Given the description of an element on the screen output the (x, y) to click on. 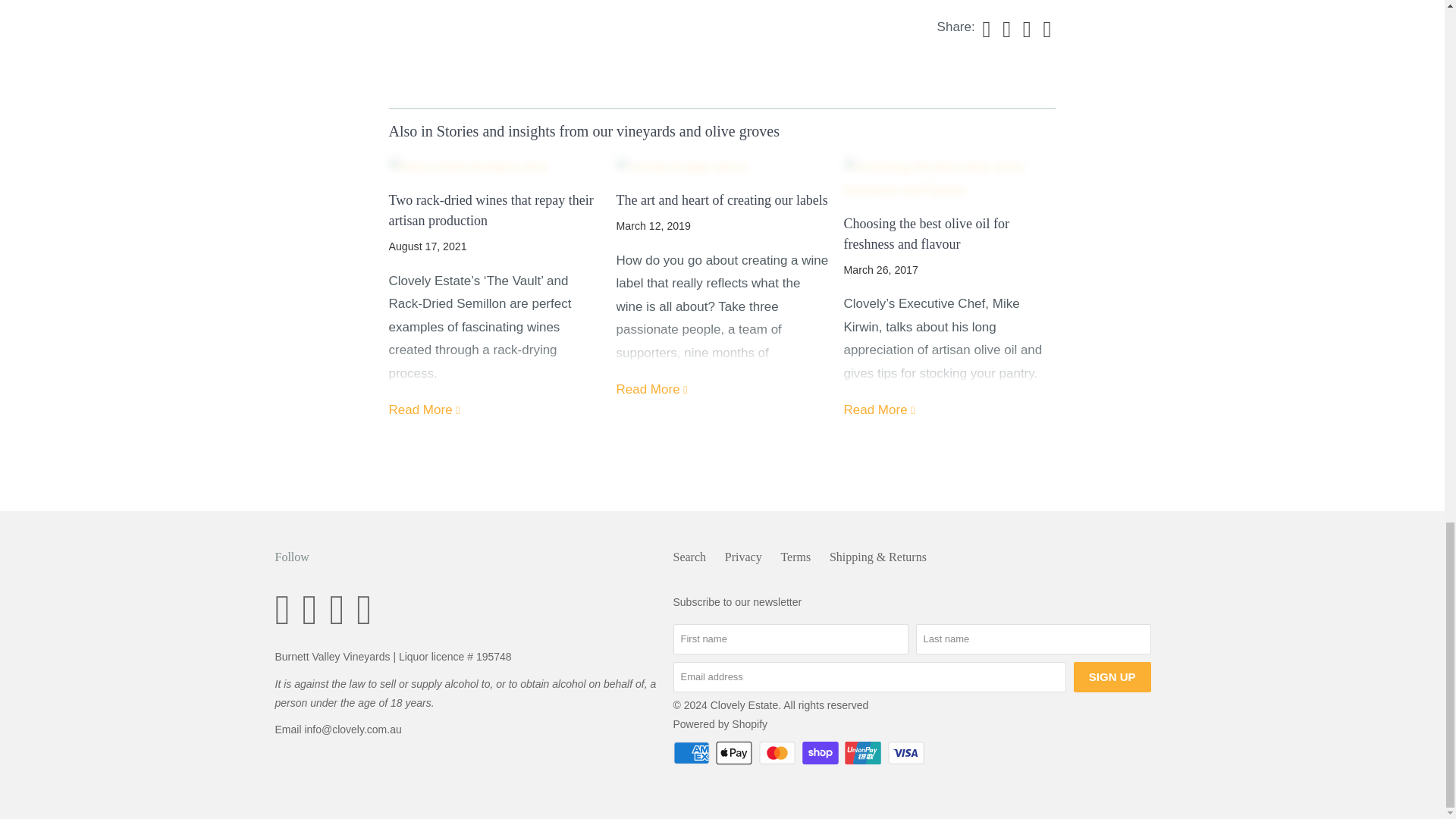
Choosing the best olive oil for freshness and flavour (949, 179)
The art and heart of creating our labels (721, 200)
Union Pay (863, 753)
The art and heart of creating our labels (651, 389)
Choosing the best olive oil for freshness and flavour (926, 233)
Mastercard (777, 753)
The art and heart of creating our labels (721, 167)
Shop Pay (821, 753)
Apple Pay (735, 753)
Two rack-dried wines that repay their artisan production (424, 409)
